Given the description of an element on the screen output the (x, y) to click on. 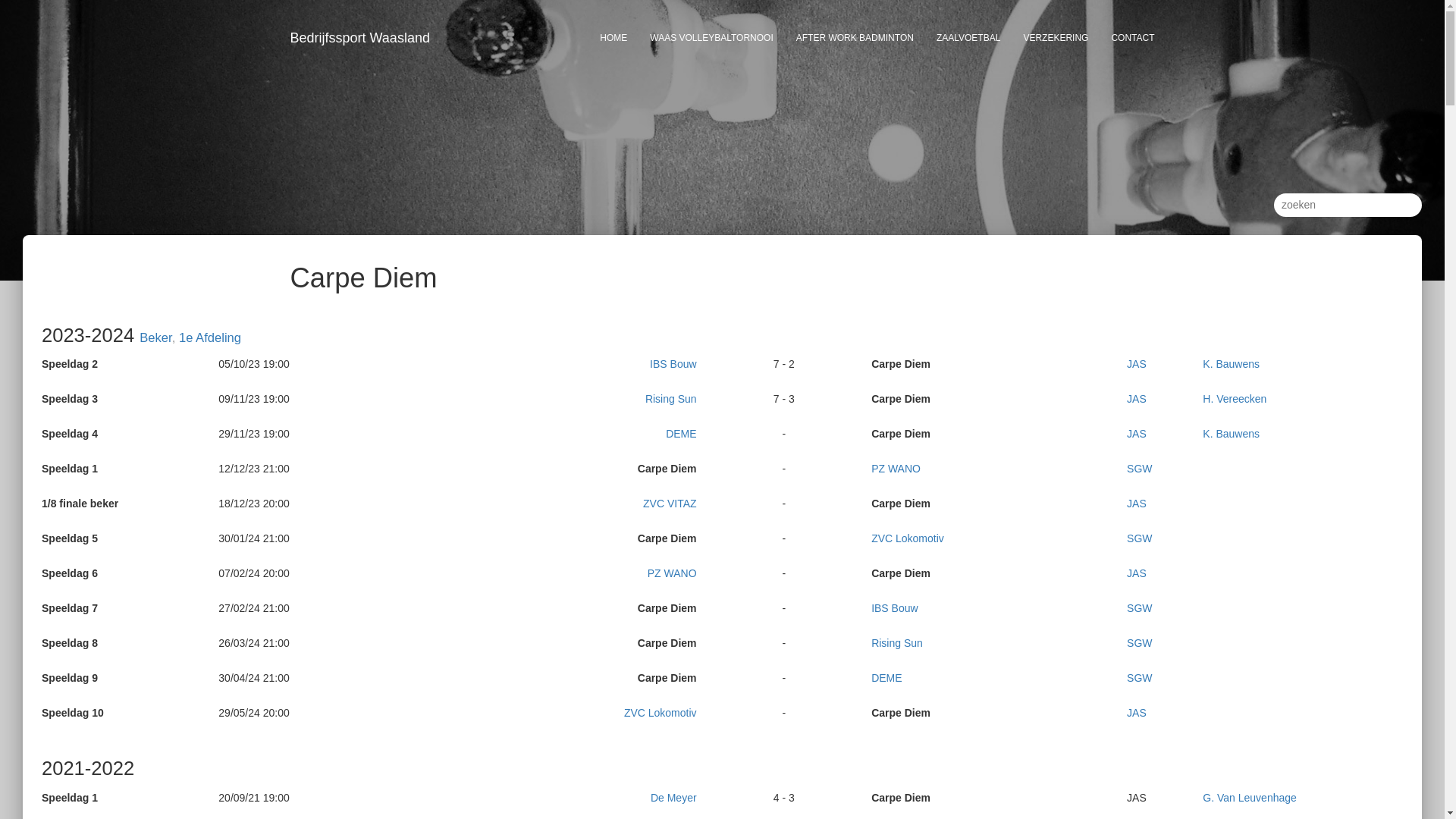
IBS Bouw Element type: text (672, 363)
JAS Element type: text (1136, 573)
JAS Element type: text (1136, 433)
Rising Sun Element type: text (896, 643)
SGW Element type: text (1138, 677)
AFTER WORK BADMINTON Element type: text (854, 37)
K. Bauwens Element type: text (1230, 433)
ZVC VITAZ Element type: text (669, 503)
HOME Element type: text (613, 37)
CONTACT Element type: text (1132, 37)
SGW Element type: text (1138, 538)
DEME Element type: text (886, 677)
Rising Sun Element type: text (670, 398)
SGW Element type: text (1138, 468)
JAS Element type: text (1136, 363)
DEME Element type: text (680, 433)
H. Vereecken Element type: text (1234, 398)
JAS Element type: text (1136, 398)
VERZEKERING Element type: text (1055, 37)
Beker Element type: text (155, 337)
ZVC Lokomotiv Element type: text (907, 538)
PZ WANO Element type: text (671, 573)
JAS Element type: text (1136, 503)
JAS Element type: text (1136, 712)
ZAALVOETBAL Element type: text (968, 37)
ZVC Lokomotiv Element type: text (660, 712)
Bedrijfssport Waasland Element type: text (360, 37)
PZ WANO Element type: text (895, 468)
G. Van Leuvenhage Element type: text (1249, 797)
K. Bauwens Element type: text (1230, 363)
SGW Element type: text (1138, 608)
De Meyer Element type: text (673, 797)
WAAS VOLLEYBALTORNOOI Element type: text (711, 37)
IBS Bouw Element type: text (894, 608)
1e Afdeling Element type: text (209, 337)
SGW Element type: text (1138, 643)
